Given the description of an element on the screen output the (x, y) to click on. 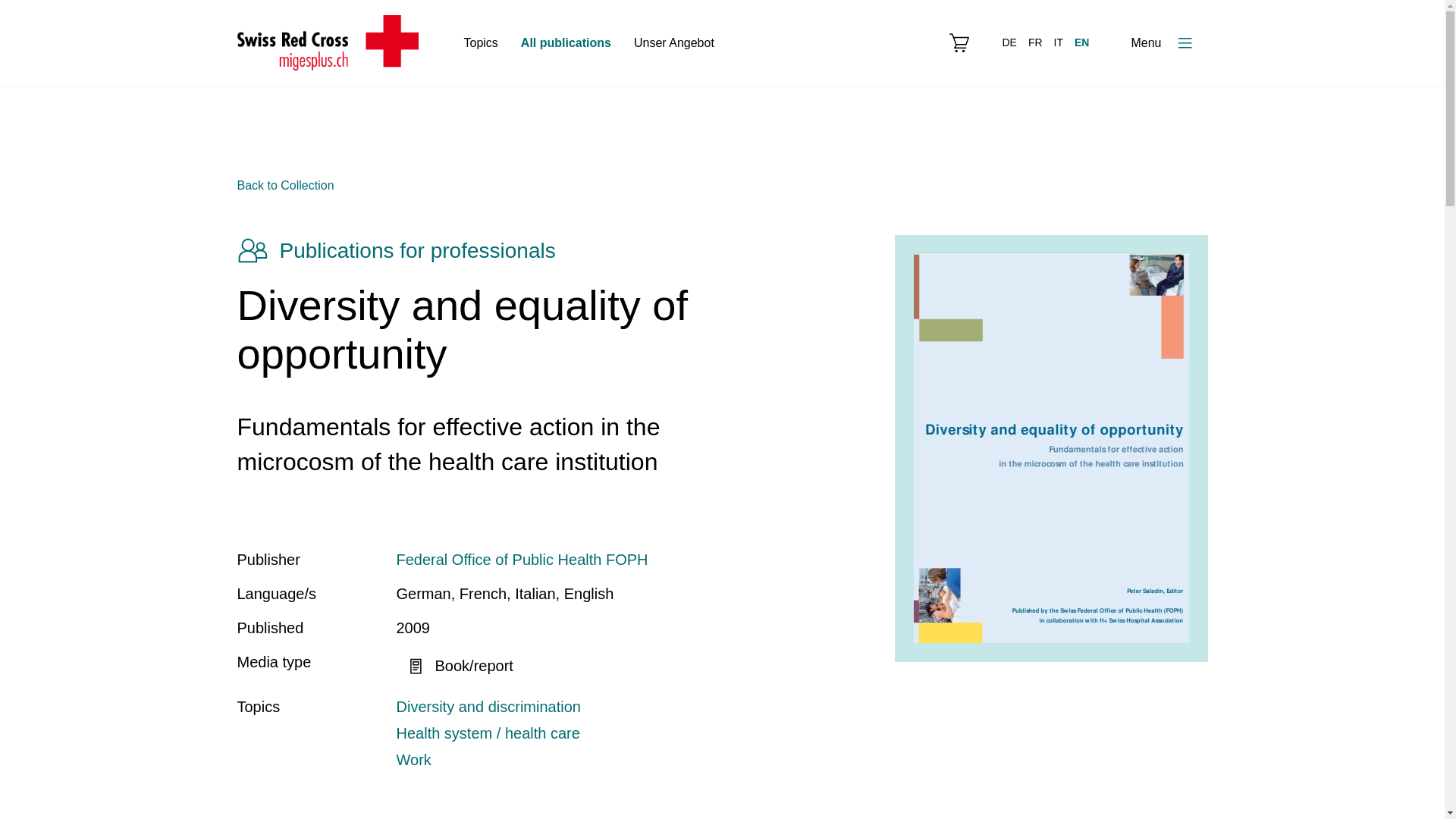
EN (1081, 42)
Federal Office of Public Health FOPH (572, 558)
Menu (1163, 42)
Checkout (959, 43)
Unser Angebot (673, 42)
FR (1034, 42)
All publications (566, 42)
DE (1008, 42)
Back to Collection (284, 185)
Topics (480, 42)
Diversity and discrimination (572, 706)
